Given the description of an element on the screen output the (x, y) to click on. 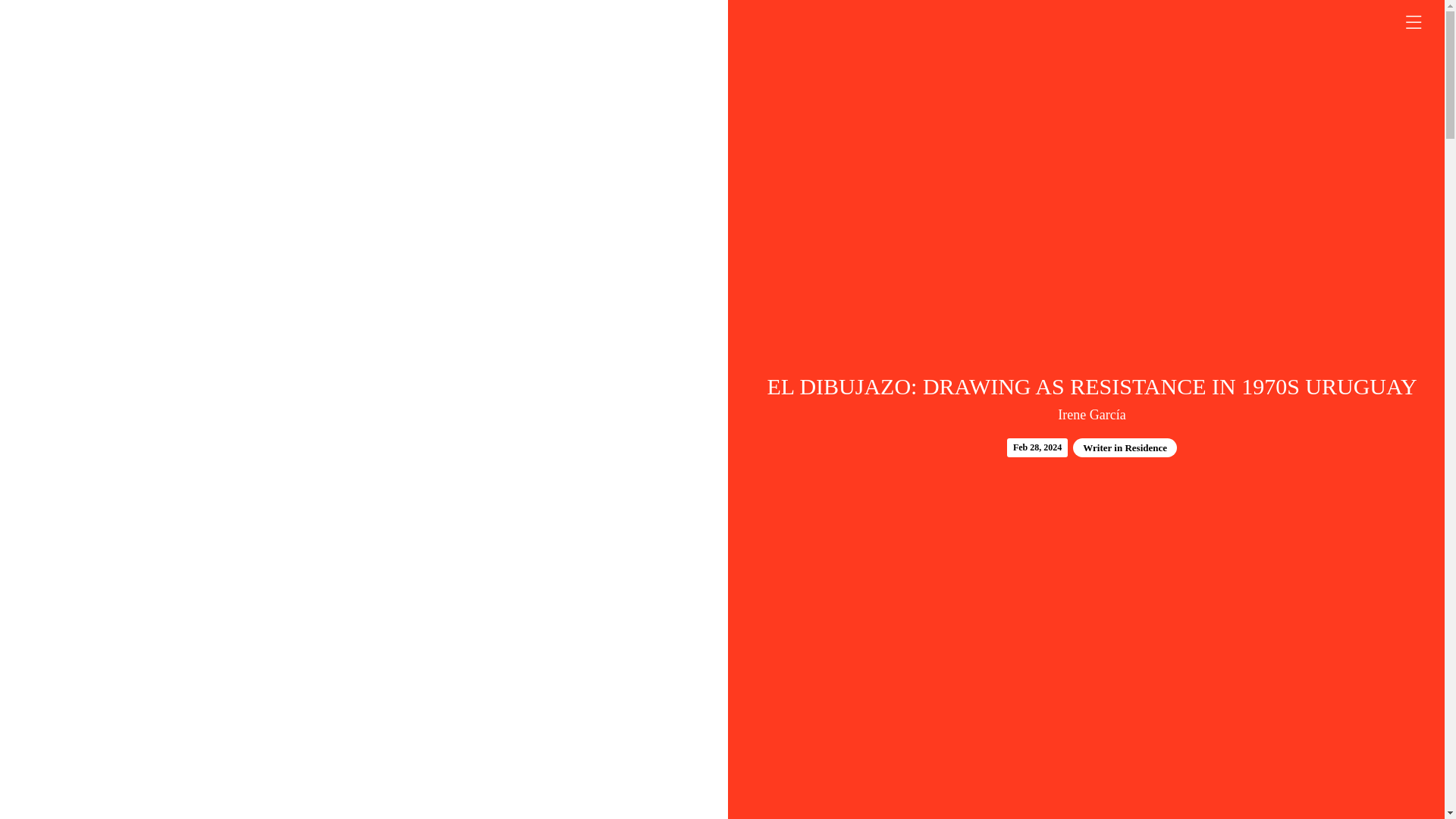
Writer in Residence (1124, 447)
